Given the description of an element on the screen output the (x, y) to click on. 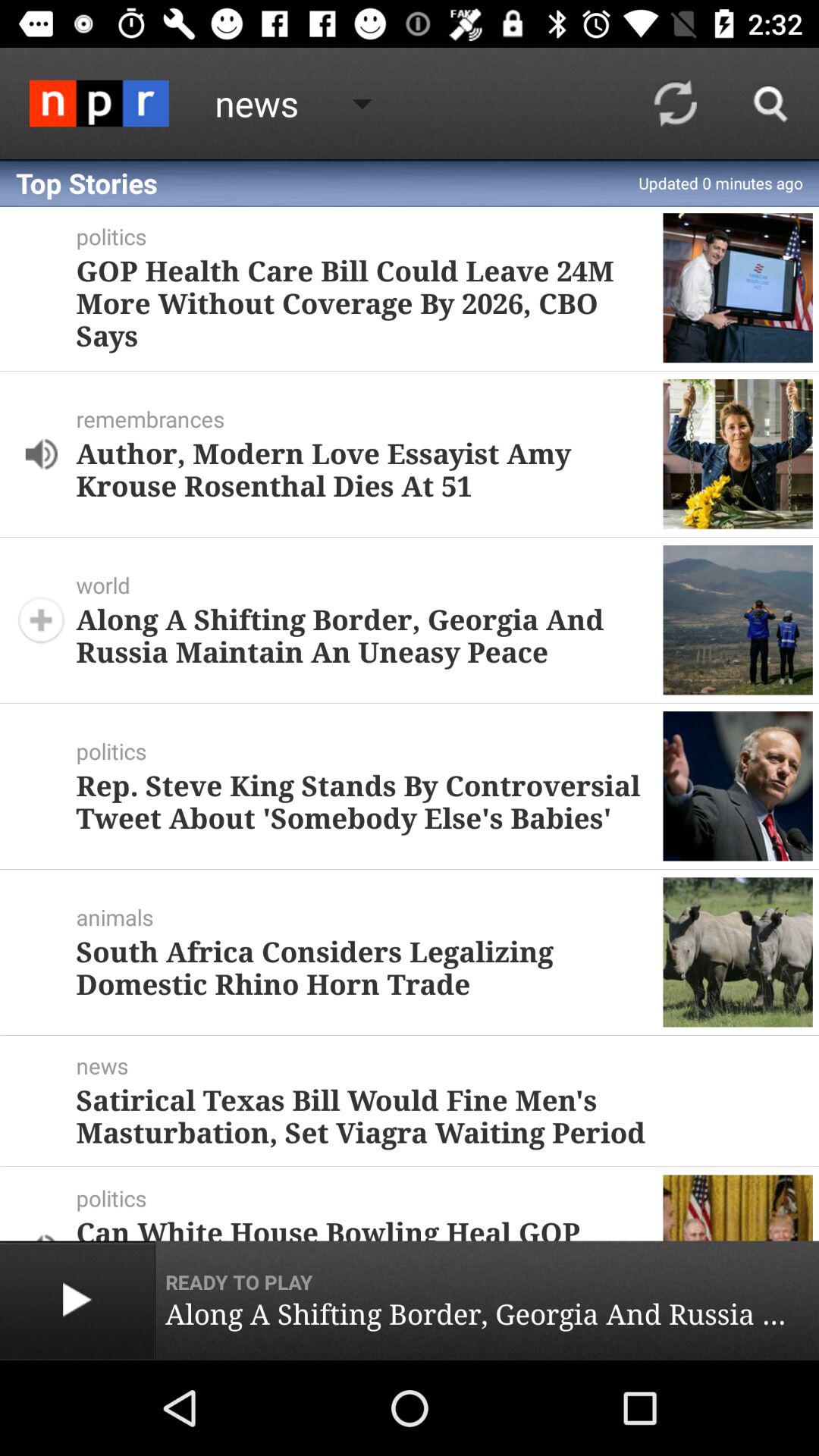
scroll to rep steve king item (363, 801)
